Given the description of an element on the screen output the (x, y) to click on. 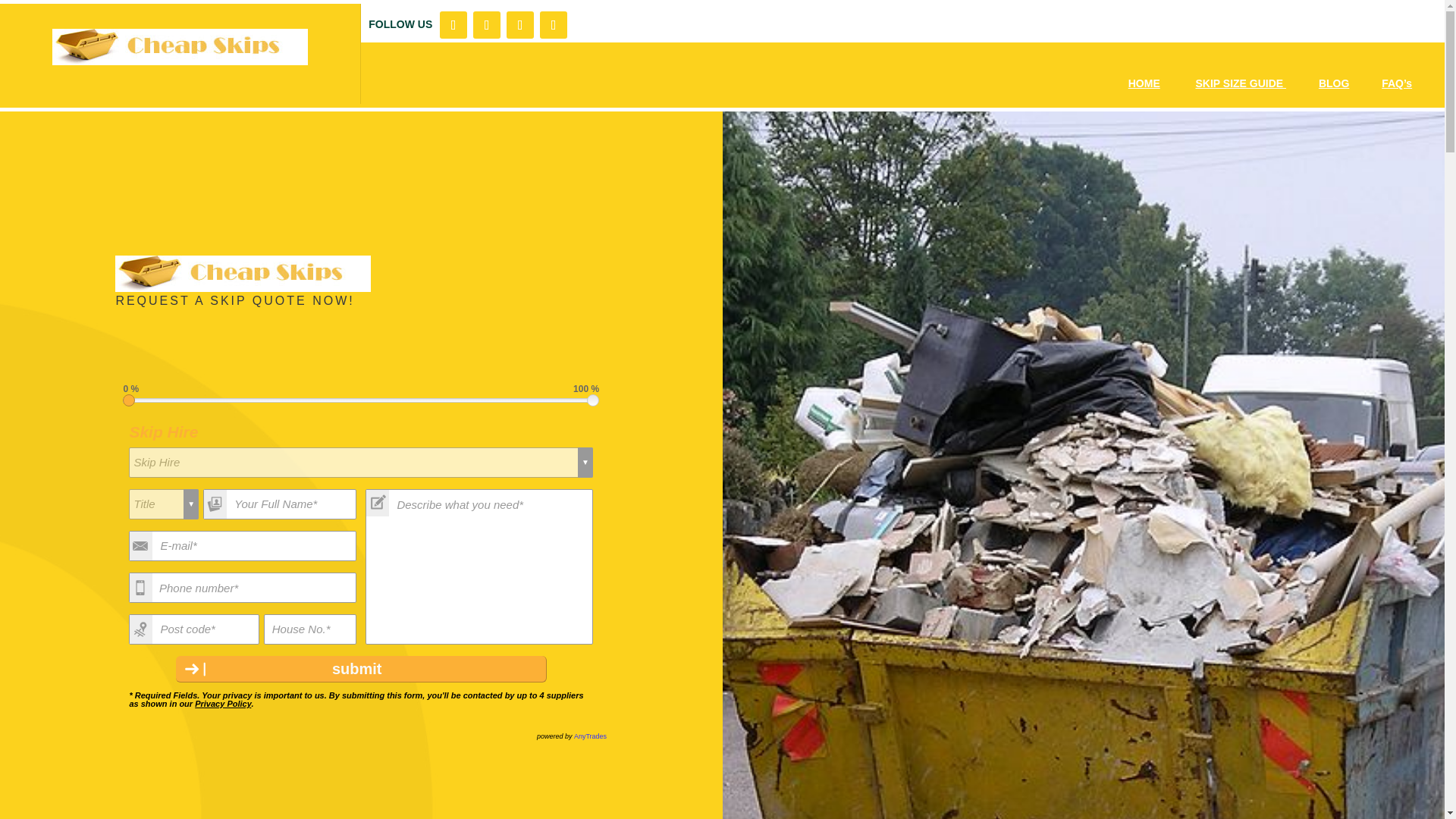
powered by AnyTrades (572, 736)
submit (361, 669)
Cheap Skips (243, 273)
submit (361, 669)
Follow on Pinterest (553, 24)
BLOG (1334, 82)
Follow on Instagram (520, 24)
Follow on Facebook (453, 24)
SKIP SIZE GUIDE (1240, 82)
Privacy Policy (222, 703)
Cheap Skips (179, 46)
Follow on X (486, 24)
HOME (1144, 82)
